Given the description of an element on the screen output the (x, y) to click on. 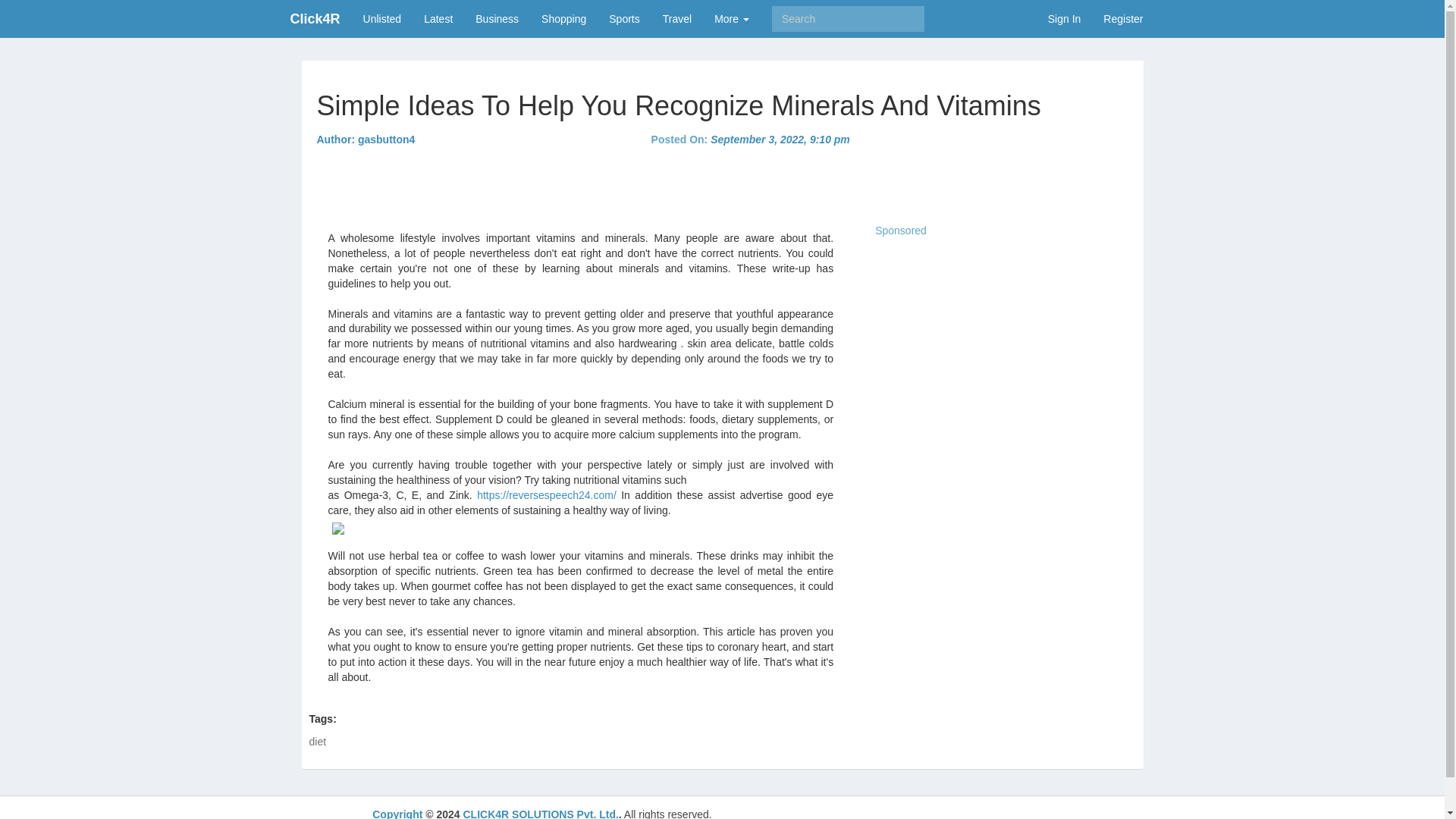
Author: gasbutton4 (365, 139)
Travel (676, 18)
Sports (623, 18)
Media (1109, 813)
Sports (623, 18)
Unlisted (382, 18)
JOBS (936, 813)
More (731, 18)
Travel (676, 18)
Sign In (1064, 18)
About Us (882, 813)
CLICK4R SOLUTIONS Pvt. Ltd. (540, 813)
Terms (1064, 813)
Register (1123, 18)
Shopping (562, 18)
